Given the description of an element on the screen output the (x, y) to click on. 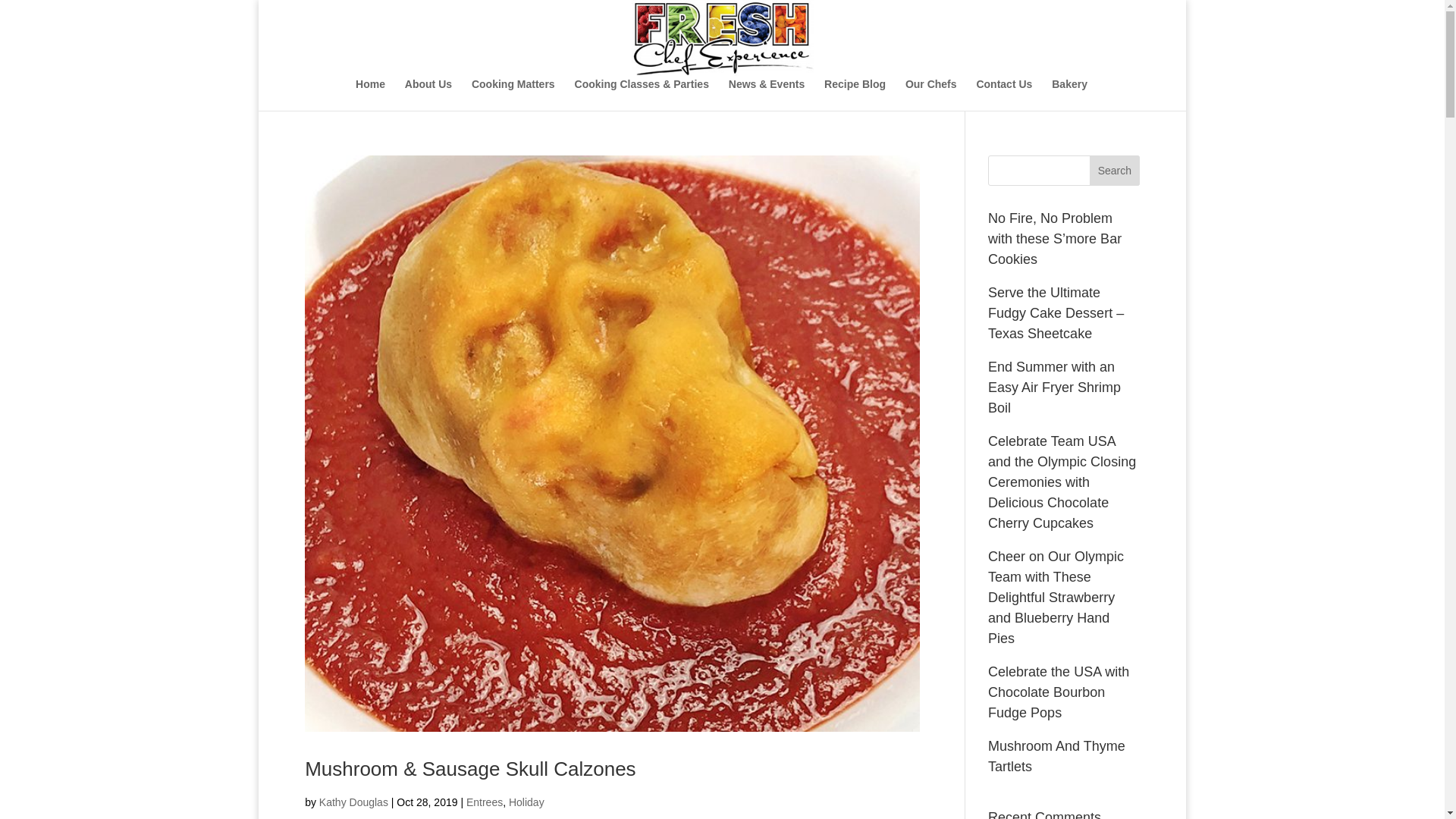
Contact Us (1003, 94)
Holiday (526, 802)
Search (1114, 170)
Search (1114, 170)
About Us (427, 94)
Kathy Douglas (353, 802)
Home (370, 94)
Entrees (483, 802)
Our Chefs (930, 94)
Cooking Matters (512, 94)
